Given the description of an element on the screen output the (x, y) to click on. 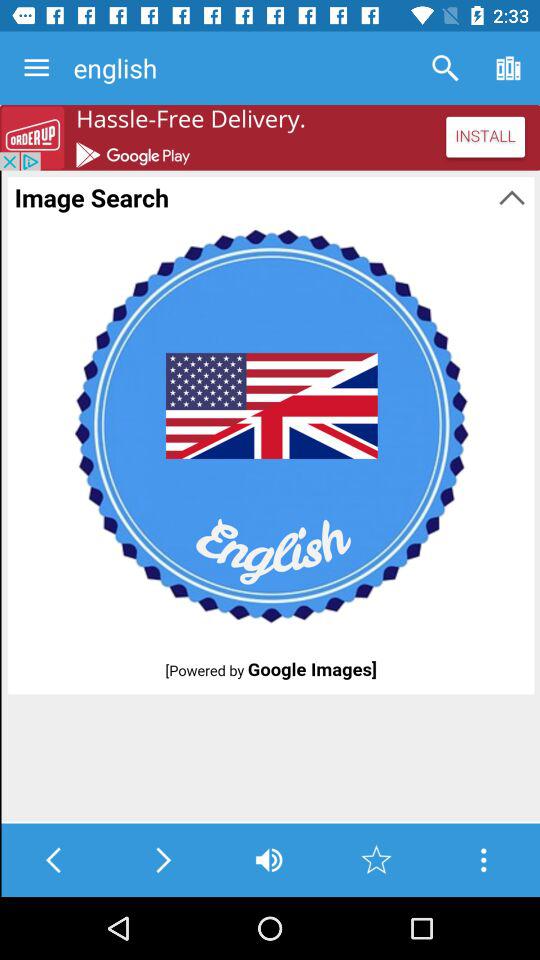
interact with advertisement (270, 137)
